Given the description of an element on the screen output the (x, y) to click on. 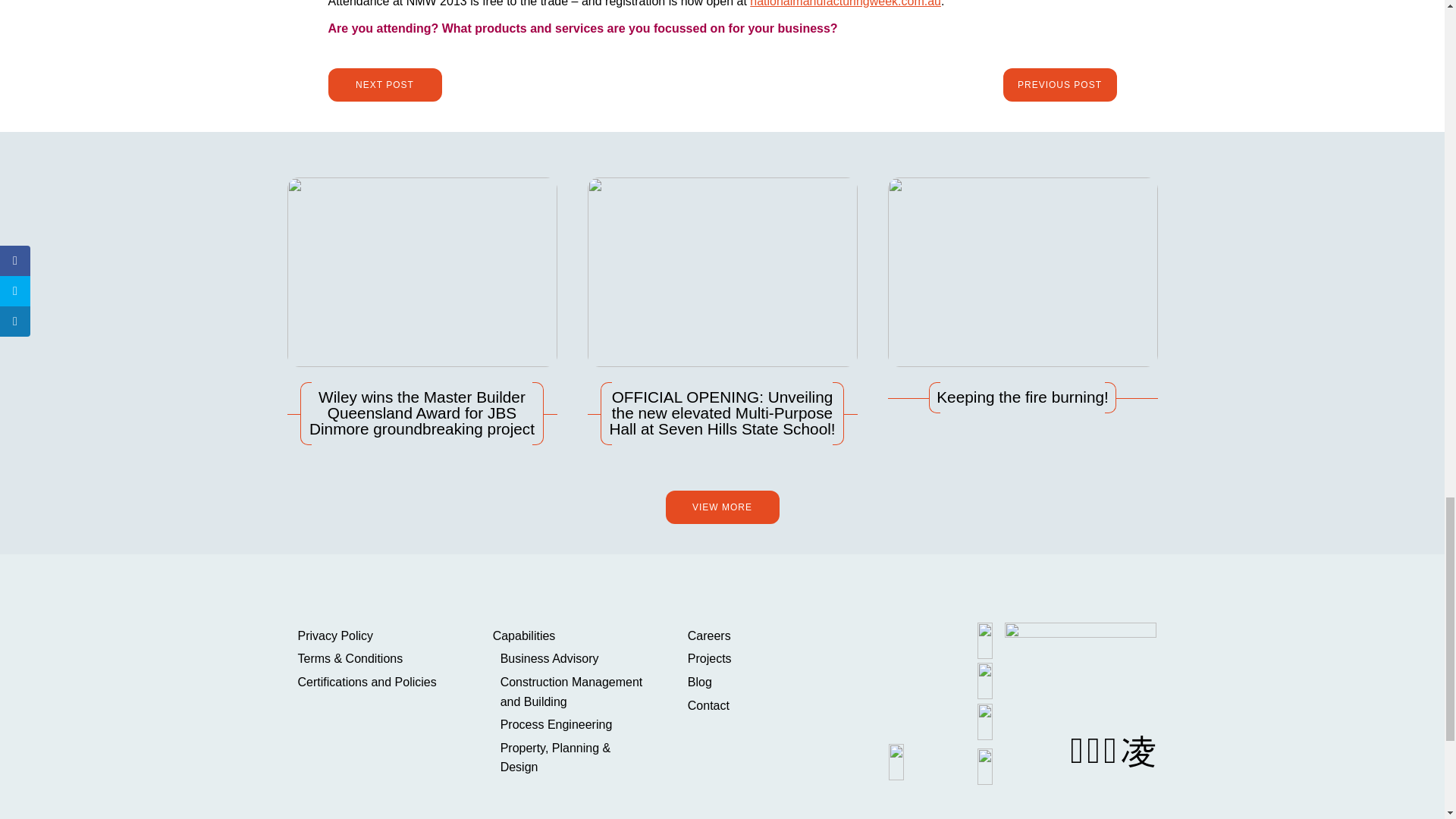
Capabilities (571, 636)
Contact (765, 705)
Process Engineering (574, 724)
Certifications and Policies (375, 682)
Construction Management and Building (574, 691)
Business Advisory (574, 659)
Capabilities (571, 636)
Certifications and Policies (375, 682)
Contact (765, 705)
